Given the description of an element on the screen output the (x, y) to click on. 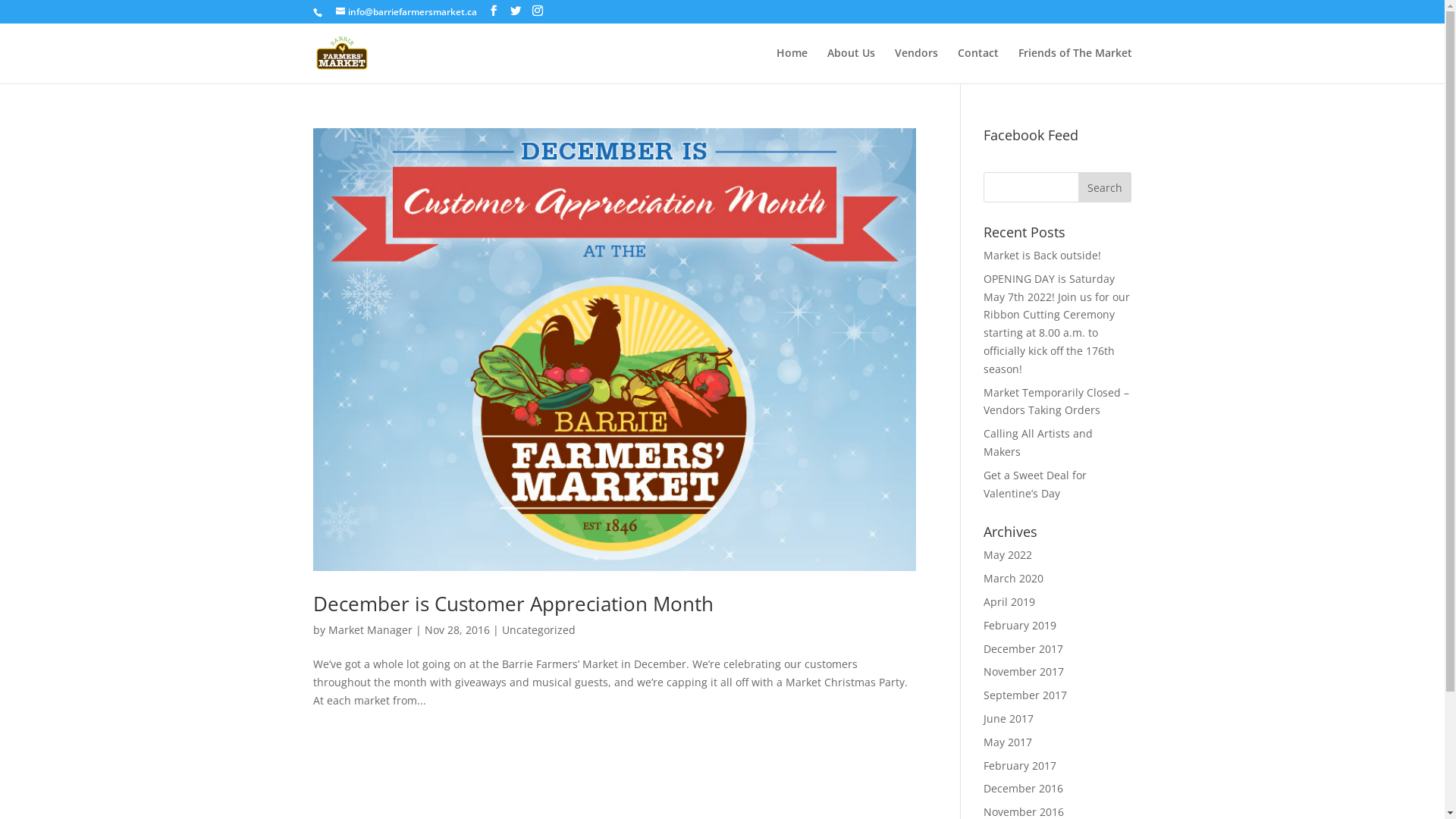
Search Element type: text (1104, 187)
April 2019 Element type: text (1009, 601)
March 2020 Element type: text (1013, 578)
February 2019 Element type: text (1019, 625)
Calling All Artists and Makers Element type: text (1037, 442)
Market Manager Element type: text (369, 629)
Home Element type: text (791, 65)
June 2017 Element type: text (1008, 718)
February 2017 Element type: text (1019, 765)
November 2017 Element type: text (1023, 671)
Market is Back outside! Element type: text (1042, 254)
Uncategorized Element type: text (538, 629)
December 2016 Element type: text (1023, 788)
May 2022 Element type: text (1007, 554)
About Us Element type: text (850, 65)
Contact Element type: text (977, 65)
info@barriefarmersmarket.ca Element type: text (405, 11)
December 2017 Element type: text (1023, 648)
September 2017 Element type: text (1024, 694)
December is Customer Appreciation Month Element type: text (512, 603)
Friends of The Market Element type: text (1074, 65)
May 2017 Element type: text (1007, 741)
Vendors Element type: text (916, 65)
